Given the description of an element on the screen output the (x, y) to click on. 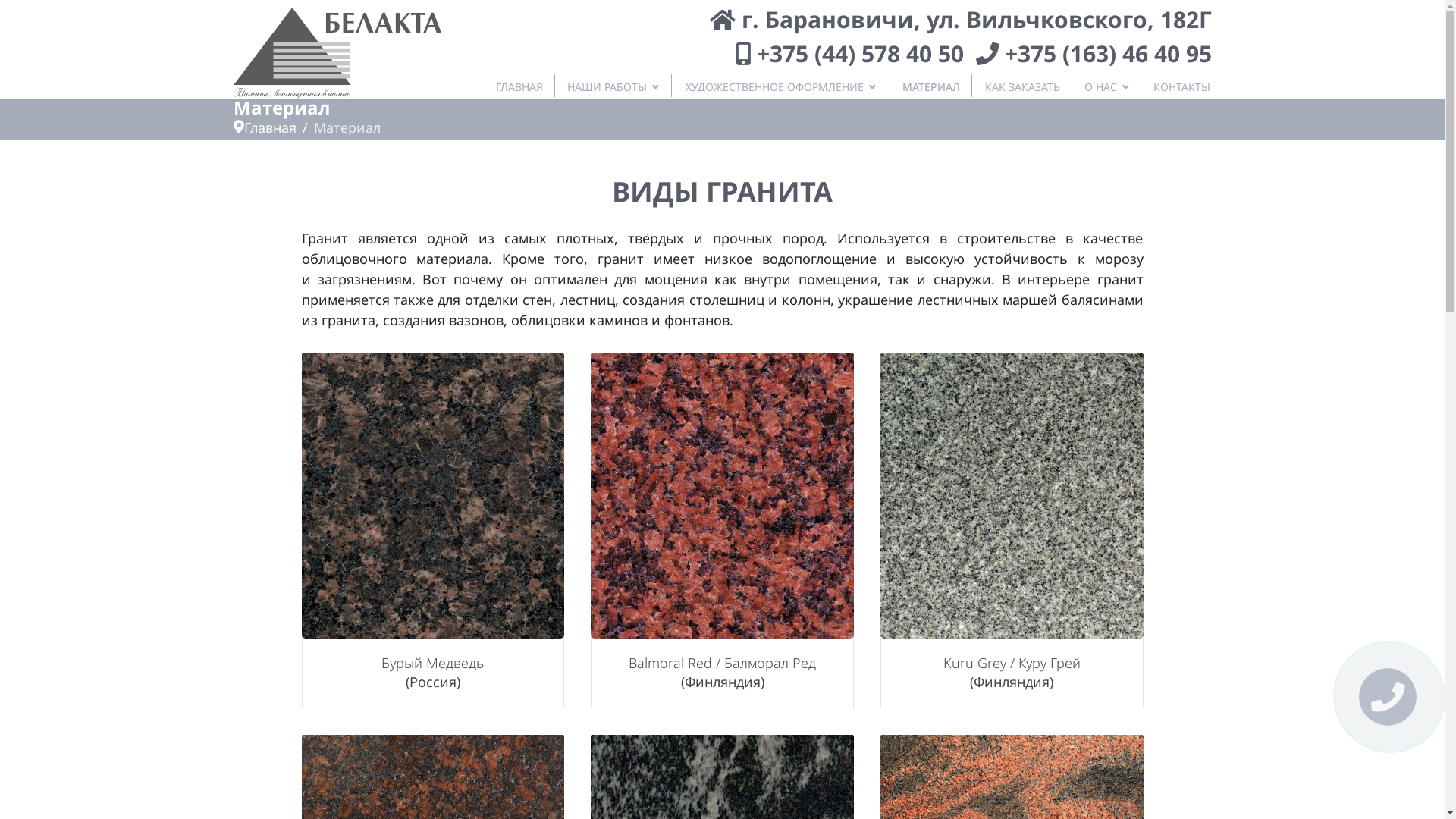
+375 (163) 46 40 95 Element type: text (1107, 53)
+375 (44) 578 40 50 Element type: text (859, 53)
